Given the description of an element on the screen output the (x, y) to click on. 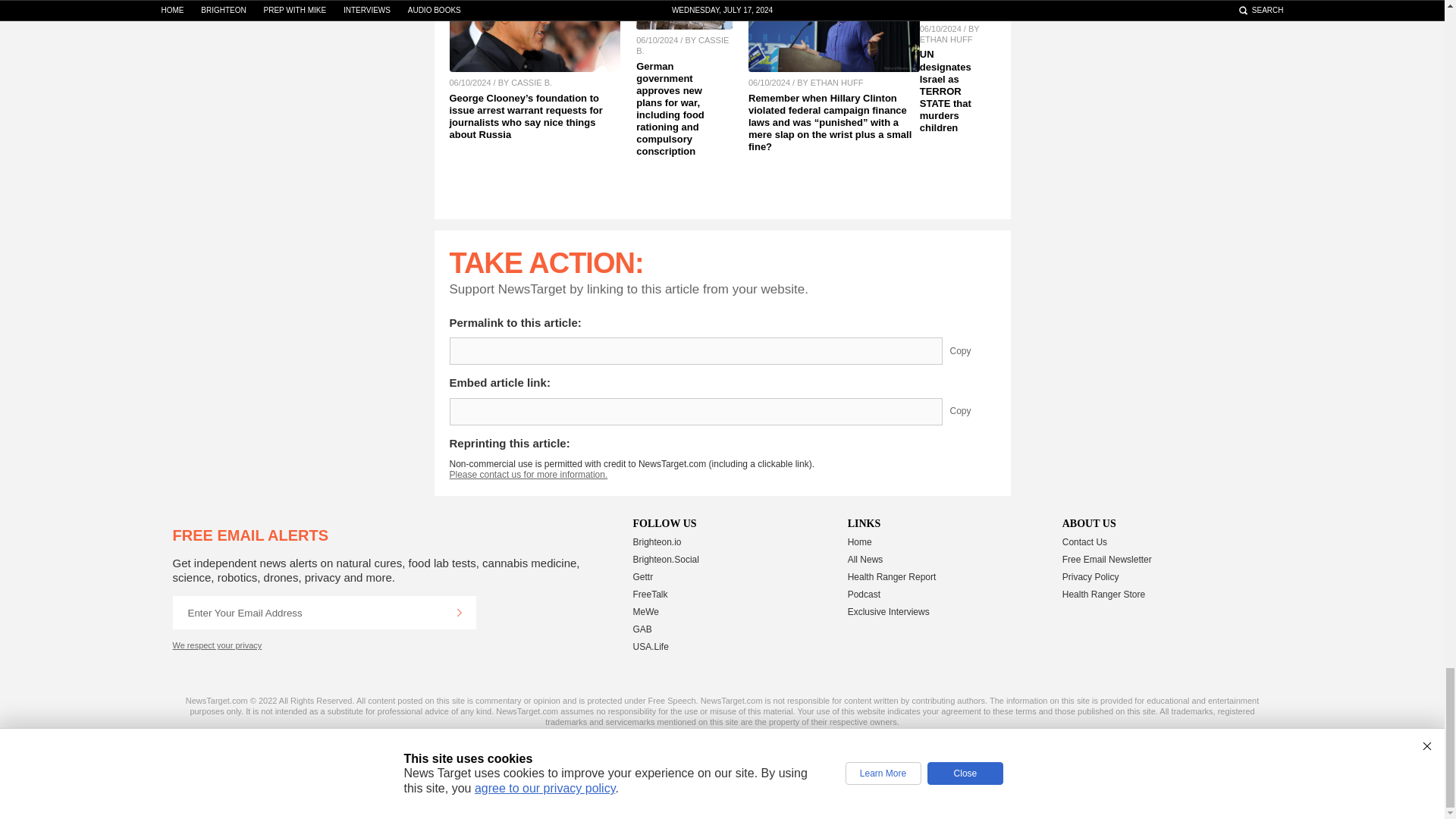
Continue (459, 612)
Copy Embed Link (971, 411)
Copy Permalink (971, 350)
